Given the description of an element on the screen output the (x, y) to click on. 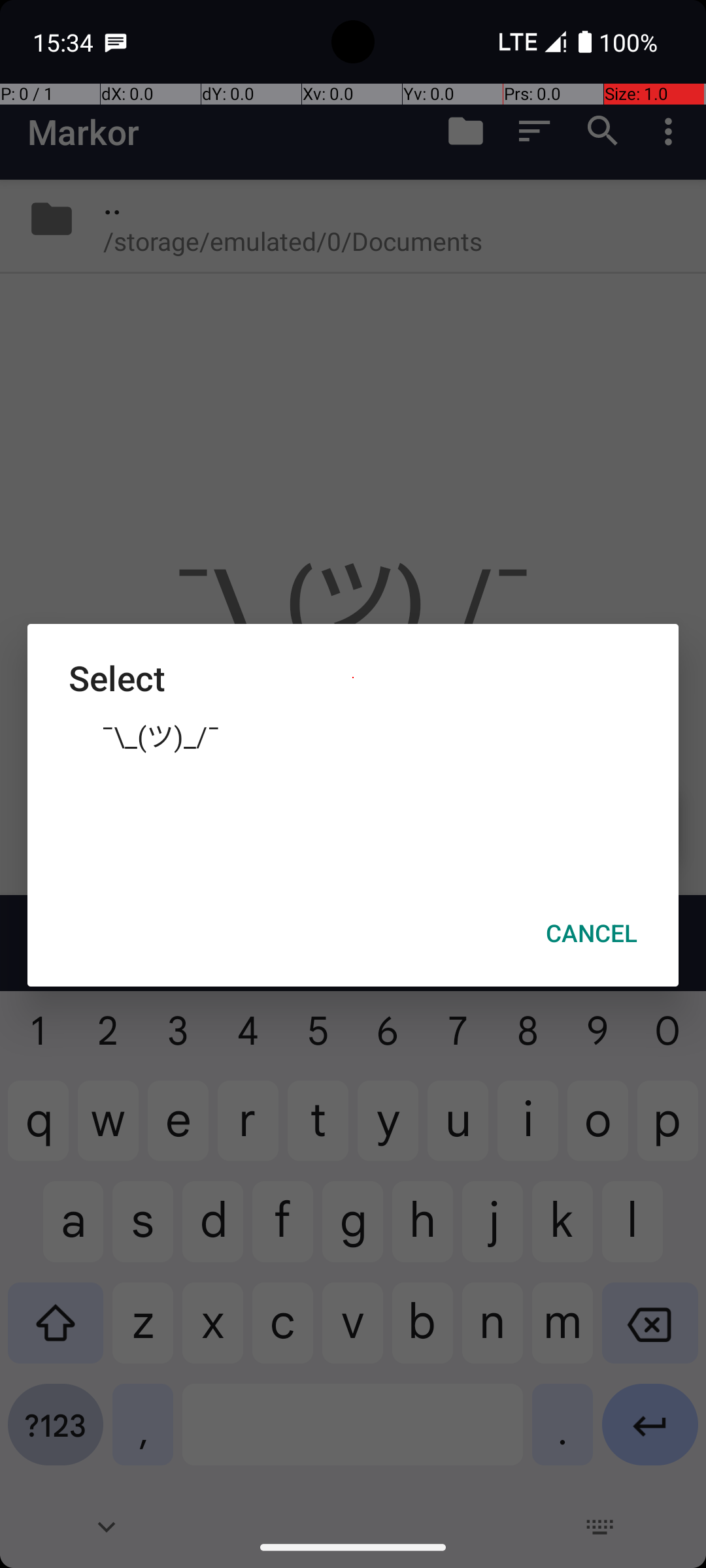
Select Element type: android.widget.TextView (352, 677)
     ¯\_(ツ)_/¯      Element type: android.widget.TextView (352, 734)
